Given the description of an element on the screen output the (x, y) to click on. 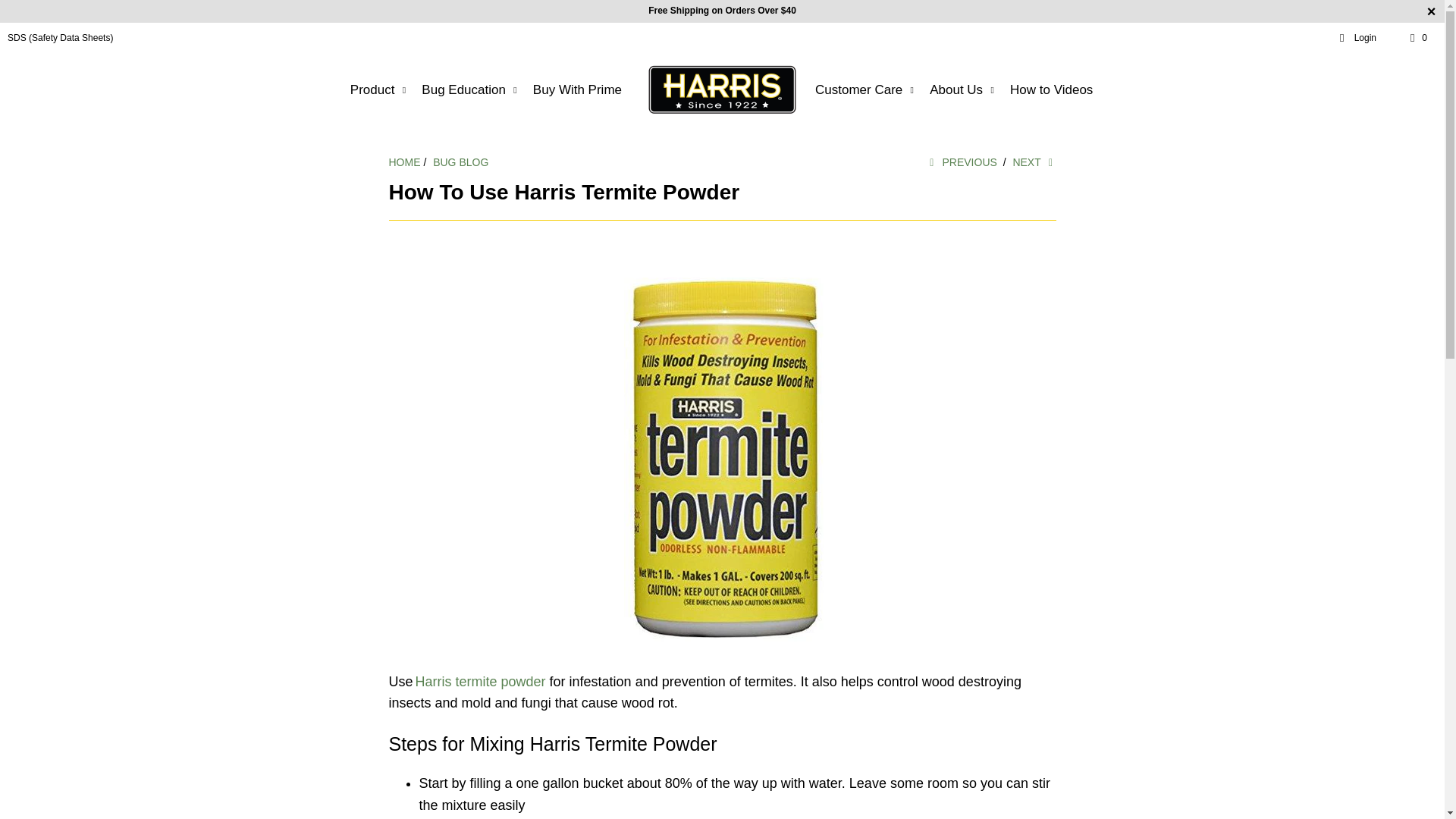
PF Harris (404, 162)
Bug Blog (459, 162)
PF Harris (722, 90)
My Account  (1357, 37)
